Given the description of an element on the screen output the (x, y) to click on. 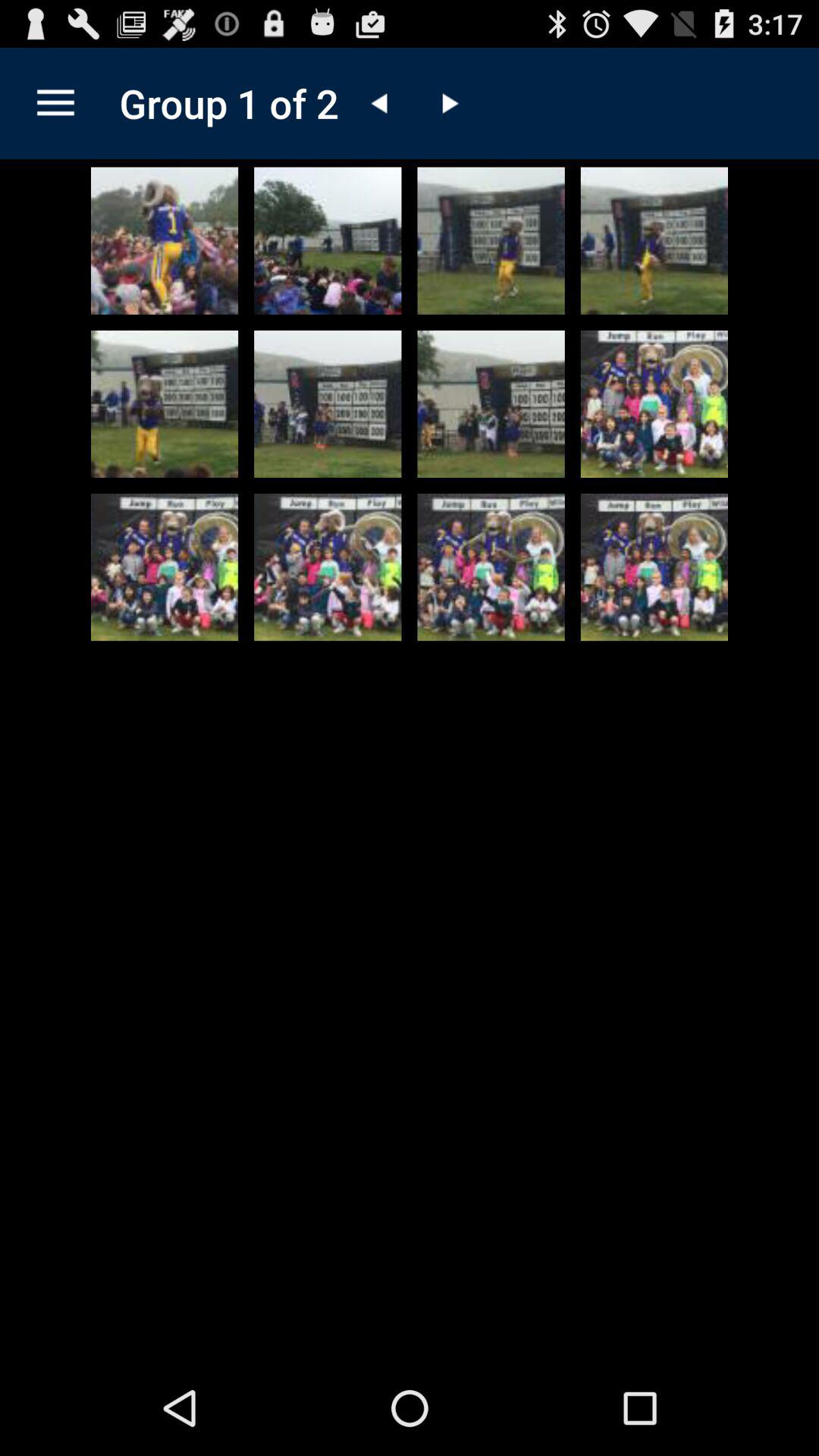
press to view (654, 566)
